Given the description of an element on the screen output the (x, y) to click on. 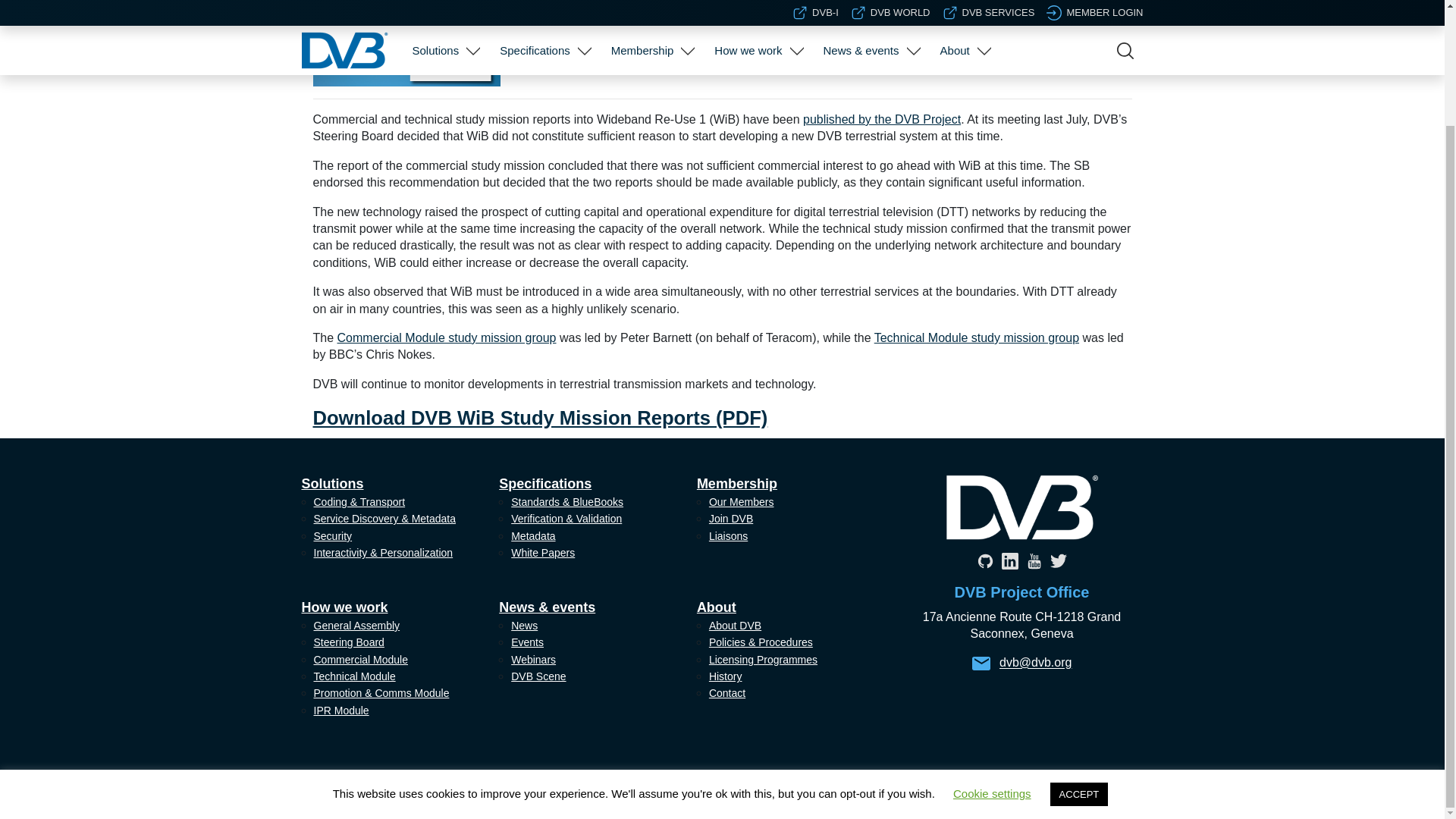
YouTube Profile (1033, 560)
Twitter Profile (1057, 560)
LinkedIn Profile (1009, 560)
Github Profile (984, 560)
